Given the description of an element on the screen output the (x, y) to click on. 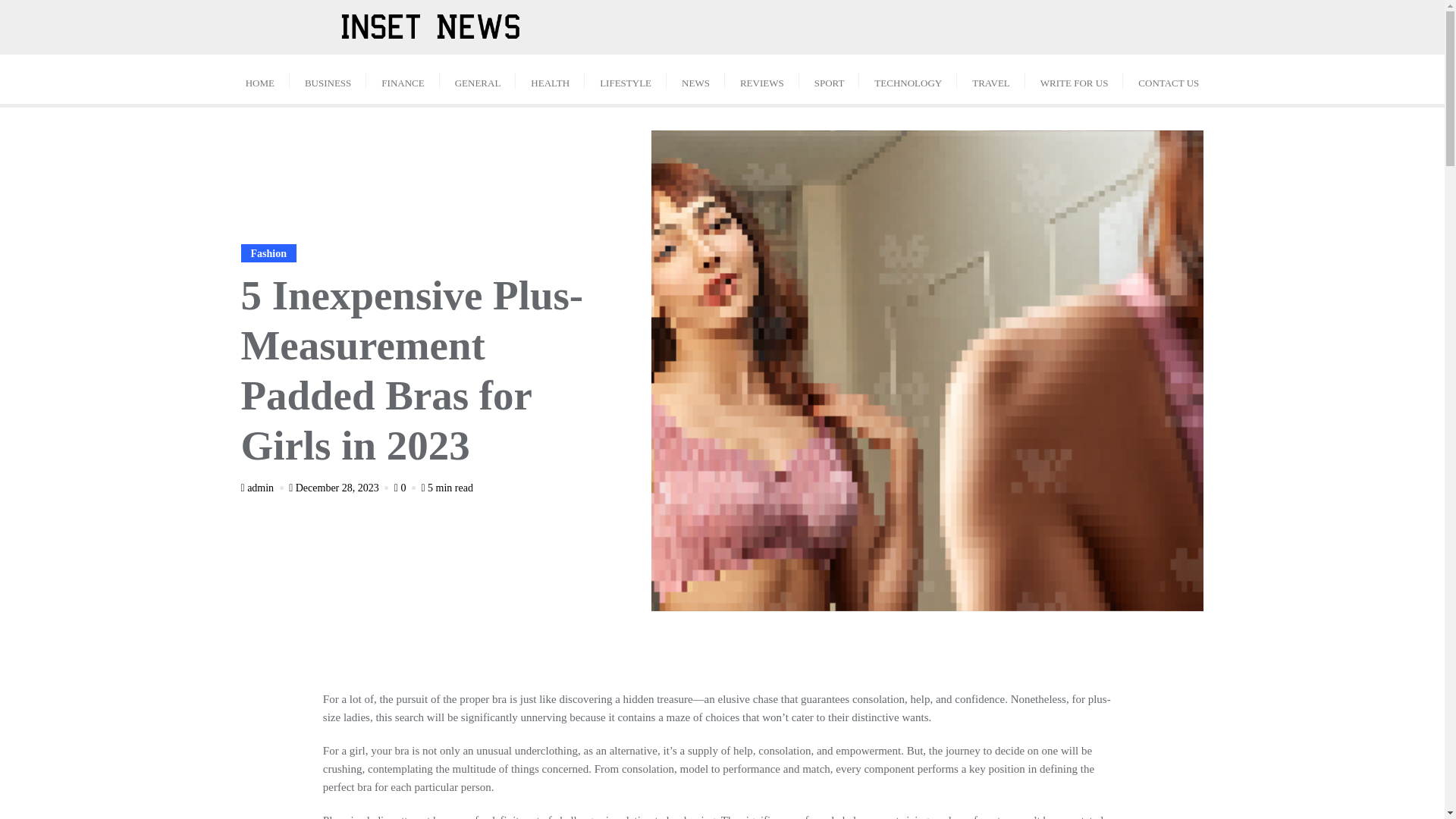
0 (406, 487)
NEWS (695, 79)
BUSINESS (327, 79)
GENERAL (477, 79)
Fashion (269, 253)
TRAVEL (990, 79)
5 min read (446, 487)
HEALTH (550, 79)
FINANCE (402, 79)
REVIEWS (762, 79)
HOME (259, 79)
CONTACT US (1168, 79)
December 28, 2023 (339, 487)
LIFESTYLE (625, 79)
TECHNOLOGY (907, 79)
